Given the description of an element on the screen output the (x, y) to click on. 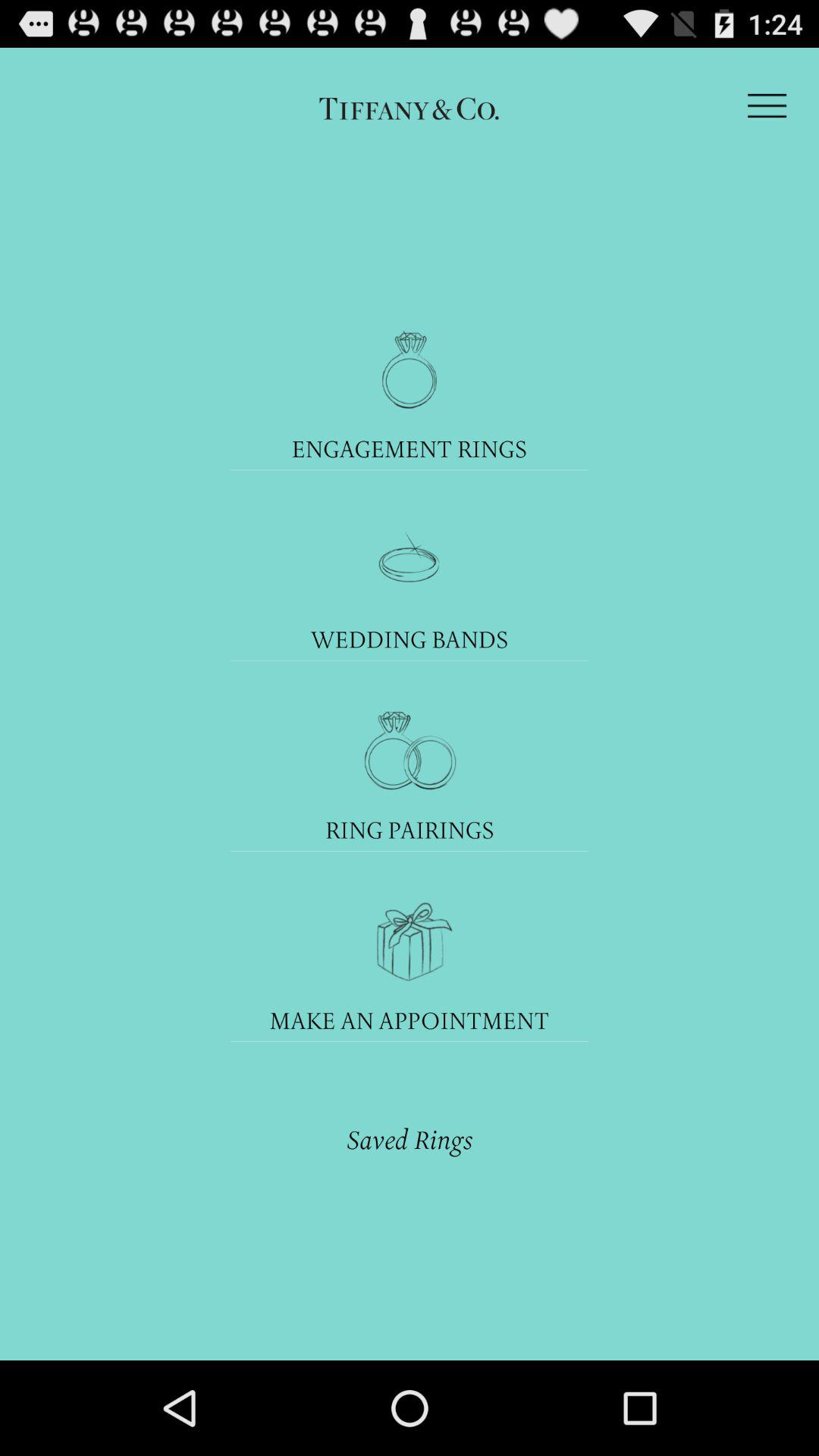
open the wedding bands (409, 639)
